Given the description of an element on the screen output the (x, y) to click on. 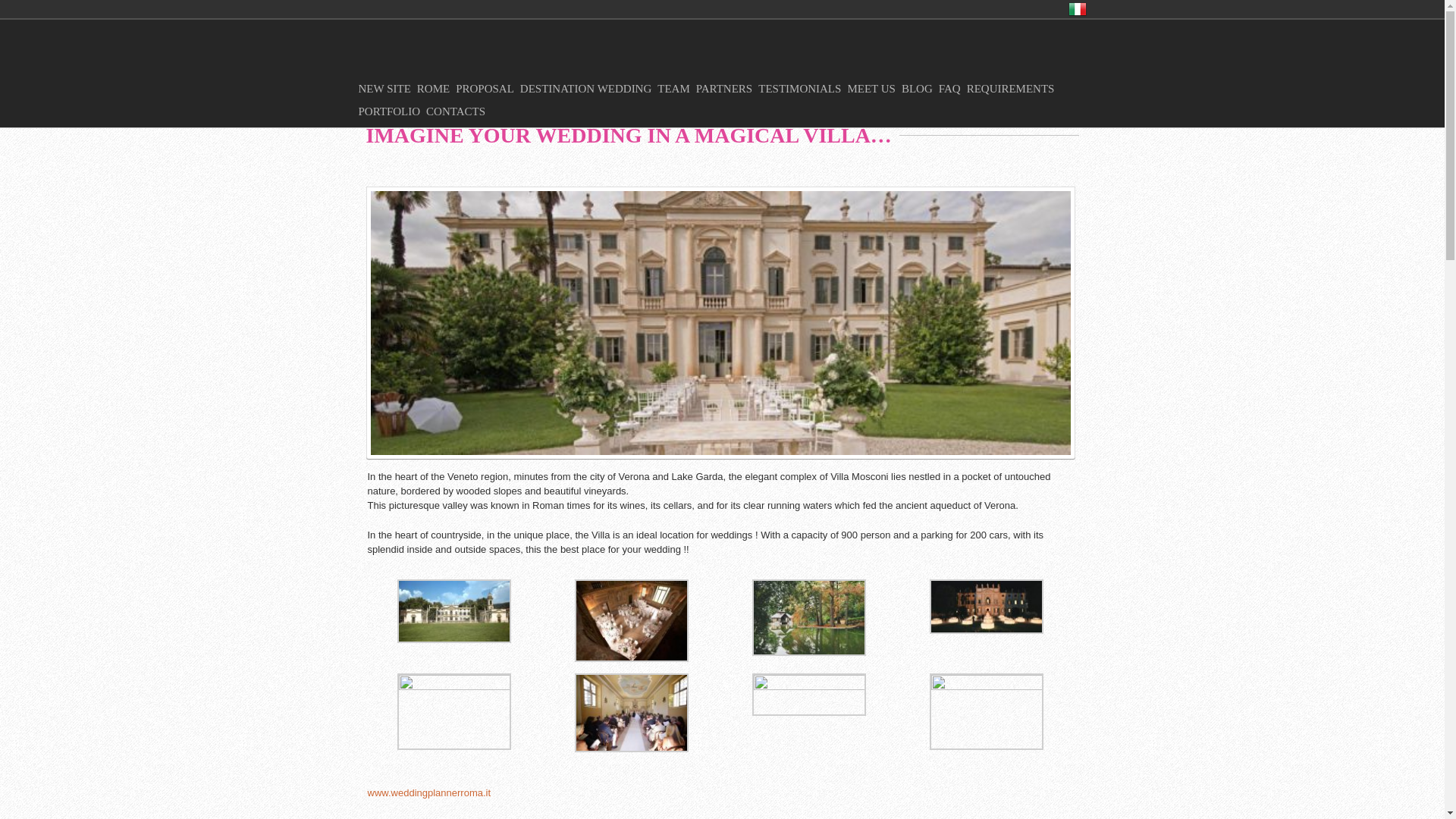
DESTINATION WEDDING (588, 88)
ROME (435, 88)
PORTFOLIO (392, 110)
PROPOSAL (487, 88)
BLOG (920, 88)
PARTNERS (726, 88)
TEAM (676, 88)
REQUIREMENTS (1013, 88)
italian (1076, 9)
www.weddingplannerroma.it (428, 792)
